Given the description of an element on the screen output the (x, y) to click on. 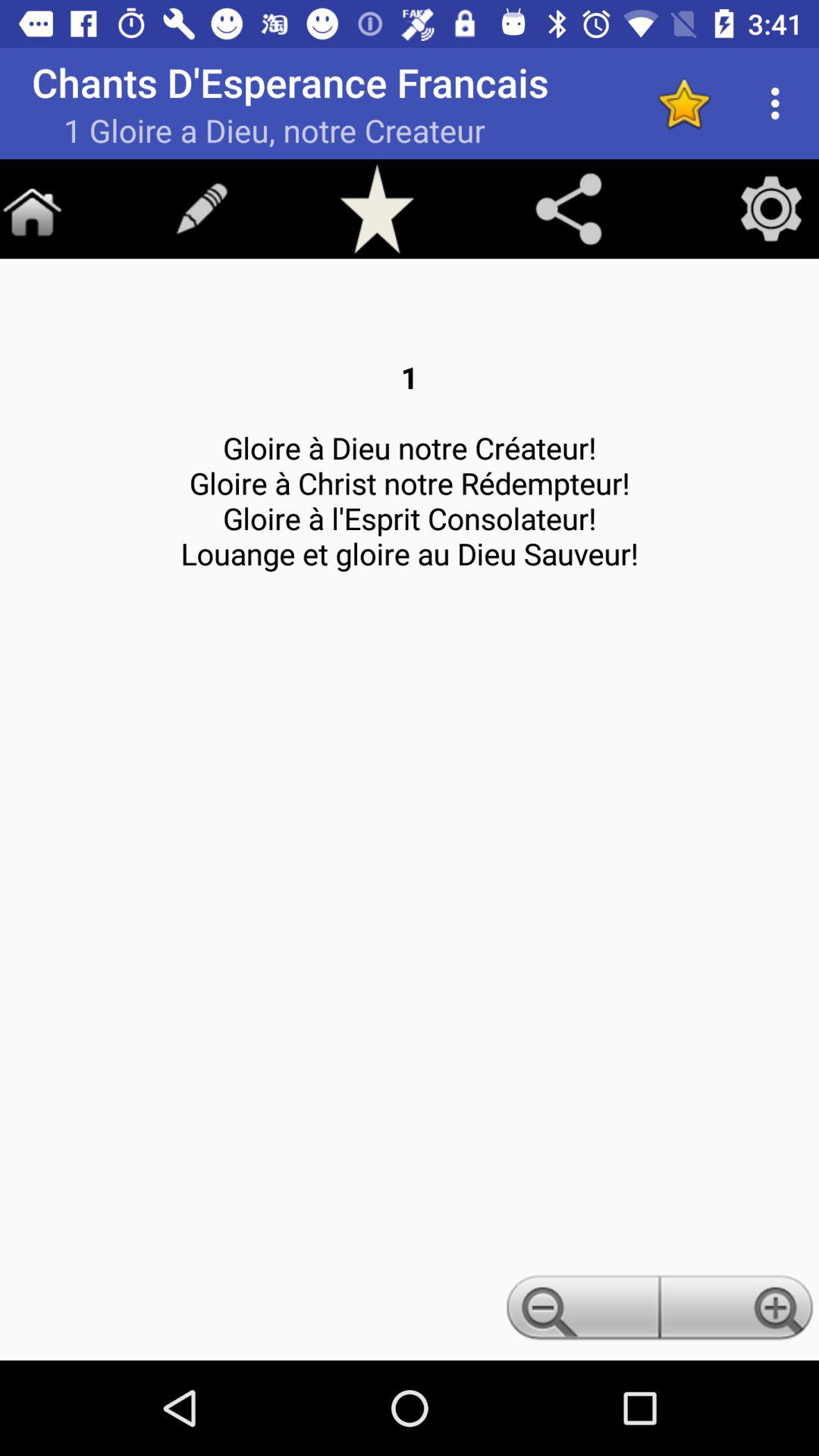
pencil to draw (201, 208)
